Given the description of an element on the screen output the (x, y) to click on. 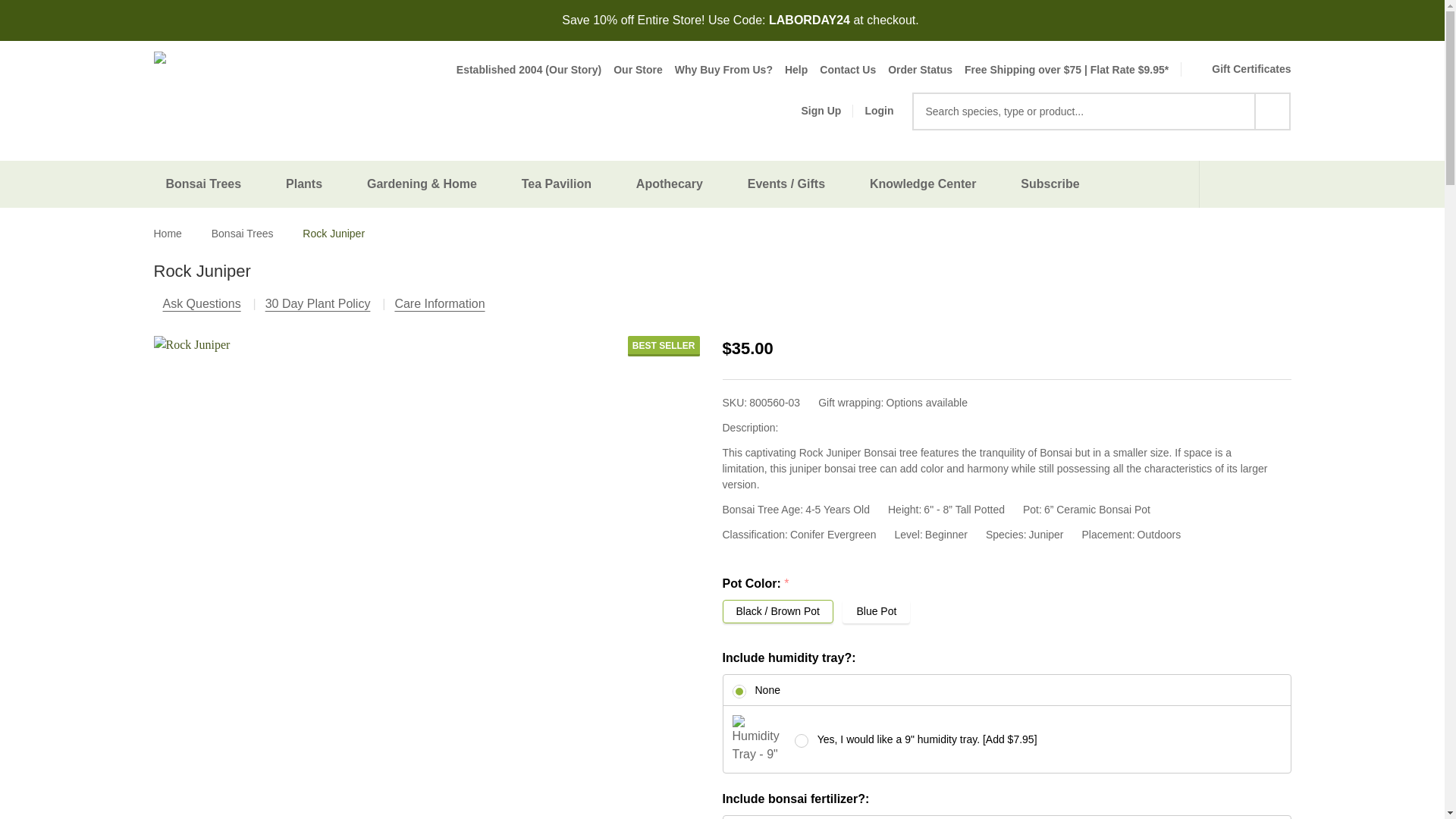
Bonsai Trees (205, 184)
Sign Up (810, 110)
Login (878, 110)
Our Store (631, 69)
SEARCH (1271, 111)
Gift Certificates (1229, 69)
Why Buy From Us? (717, 69)
Gift Certificates (1229, 69)
